Given the description of an element on the screen output the (x, y) to click on. 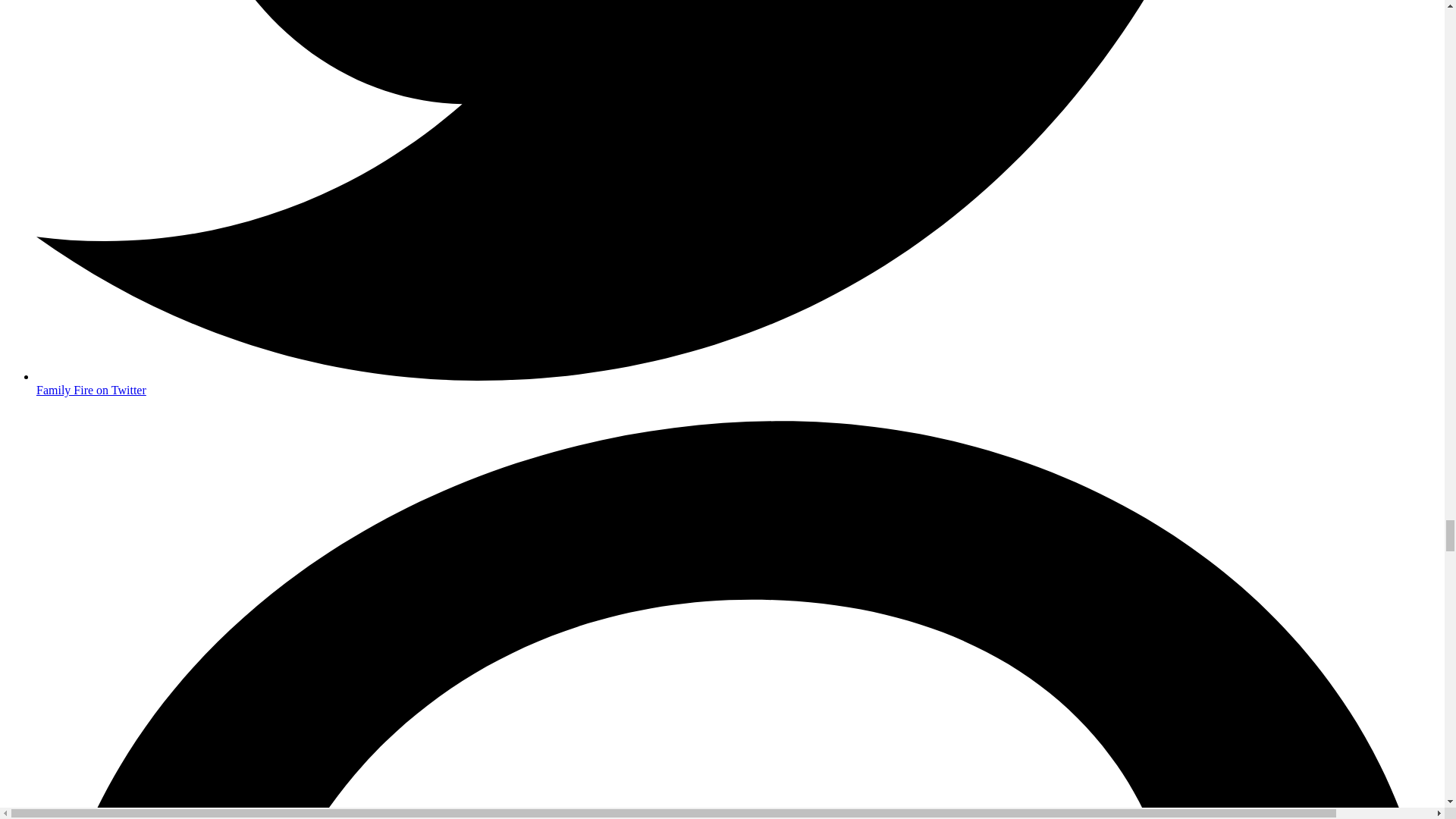
Family Fire on Twitter (737, 383)
Family Fire on Twitter (737, 383)
